Given the description of an element on the screen output the (x, y) to click on. 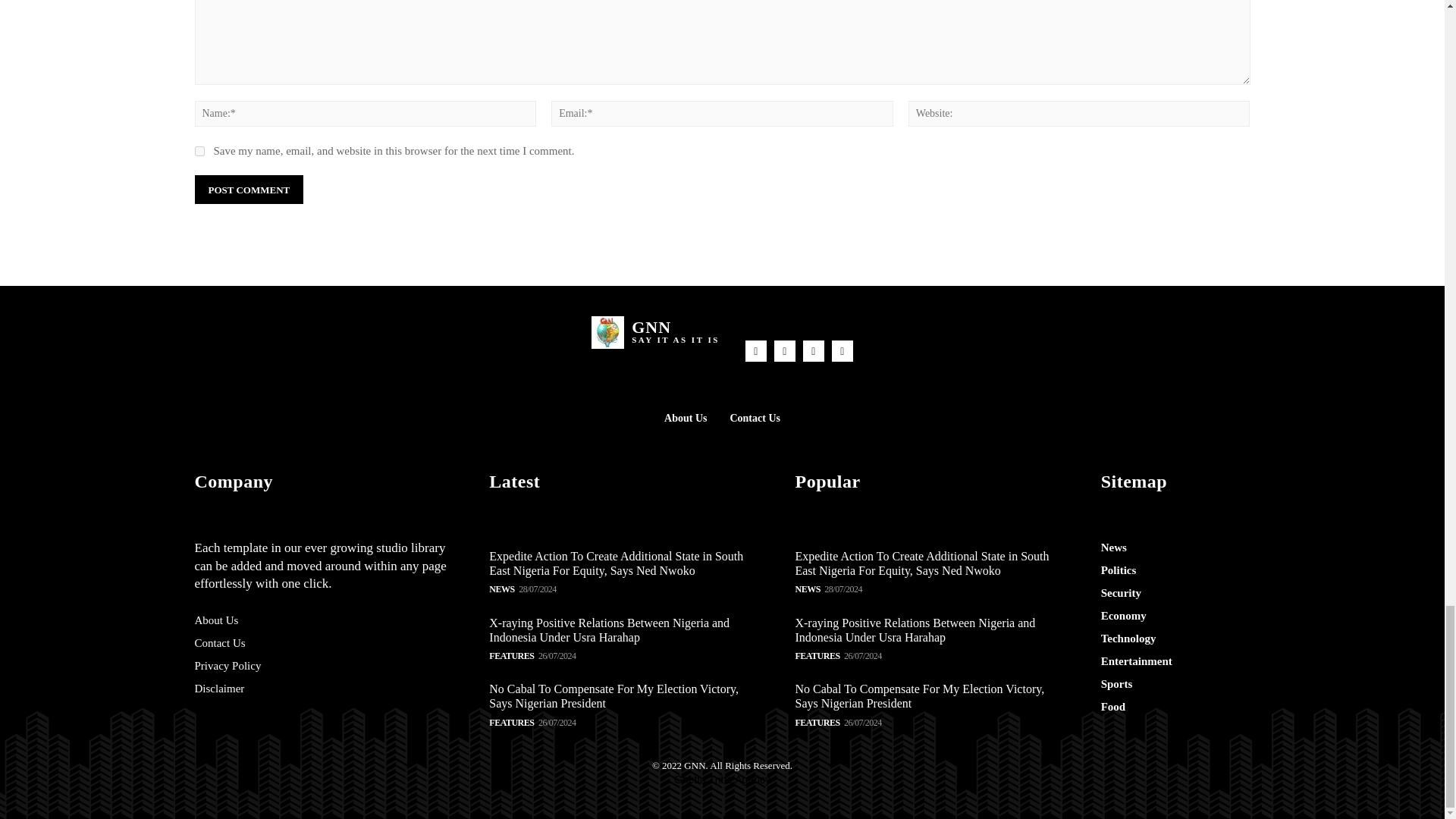
yes (198, 151)
Post Comment (247, 189)
